Given the description of an element on the screen output the (x, y) to click on. 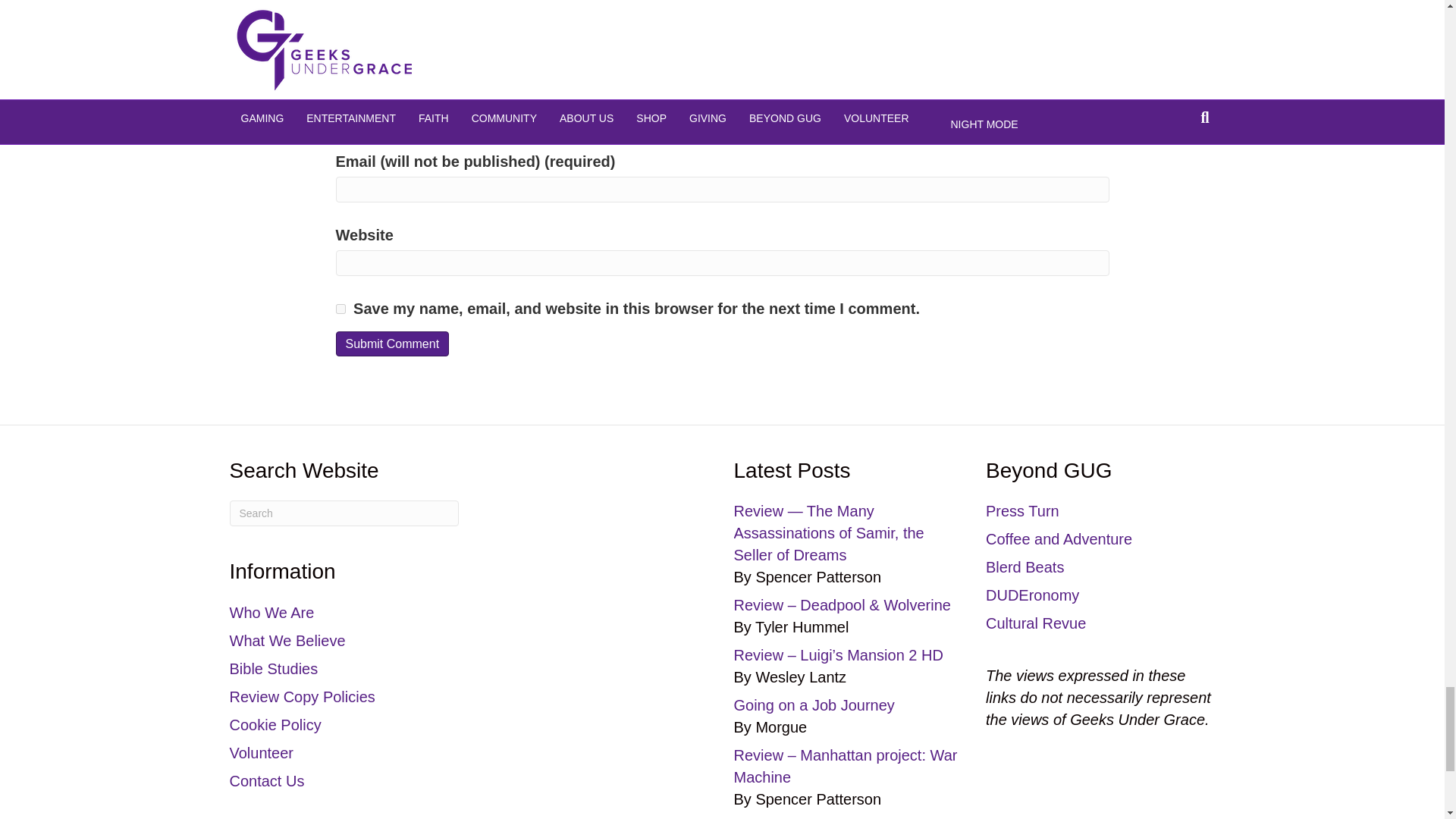
Type and press Enter to search. (343, 513)
yes (339, 308)
Submit Comment (391, 343)
